Given the description of an element on the screen output the (x, y) to click on. 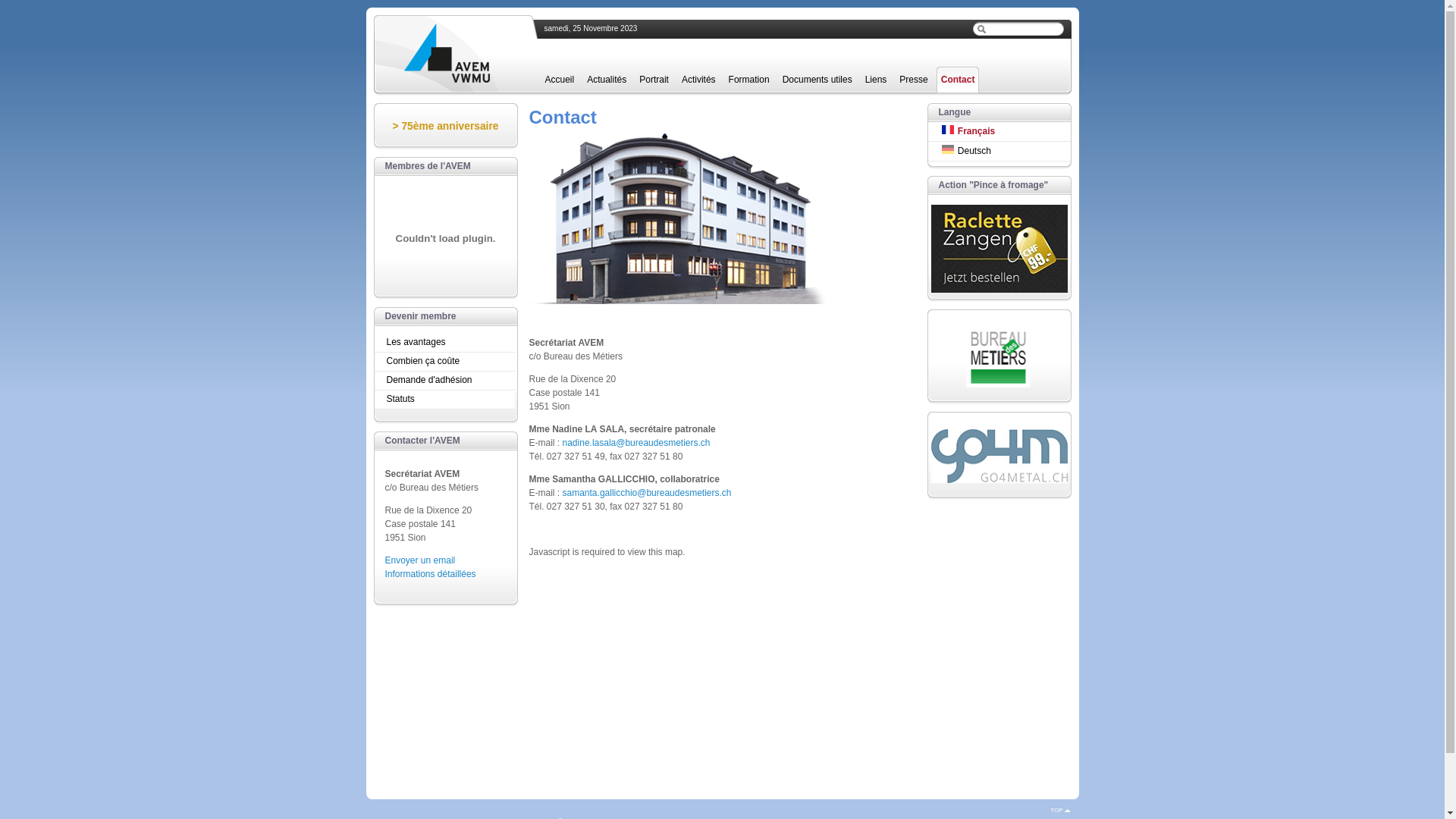
TOP Element type: text (1059, 809)
Statuts Element type: text (445, 398)
Formation Element type: text (749, 79)
Portrait Element type: text (653, 79)
Accueil Element type: text (558, 79)
Contact Element type: text (957, 79)
Documents utiles Element type: text (817, 79)
Envoyer un email Element type: text (420, 560)
Deutsch Element type: text (999, 150)
samanta.gallicchio@bureaudesmetiers.ch Element type: text (646, 492)
nadine.lasala@bureaudesmetiers.ch Element type: text (636, 442)
Les avantages Element type: text (445, 342)
Deutsch Element type: hover (947, 149)
Presse Element type: text (912, 79)
test Element type: text (980, 28)
Liens Element type: text (875, 79)
